Given the description of an element on the screen output the (x, y) to click on. 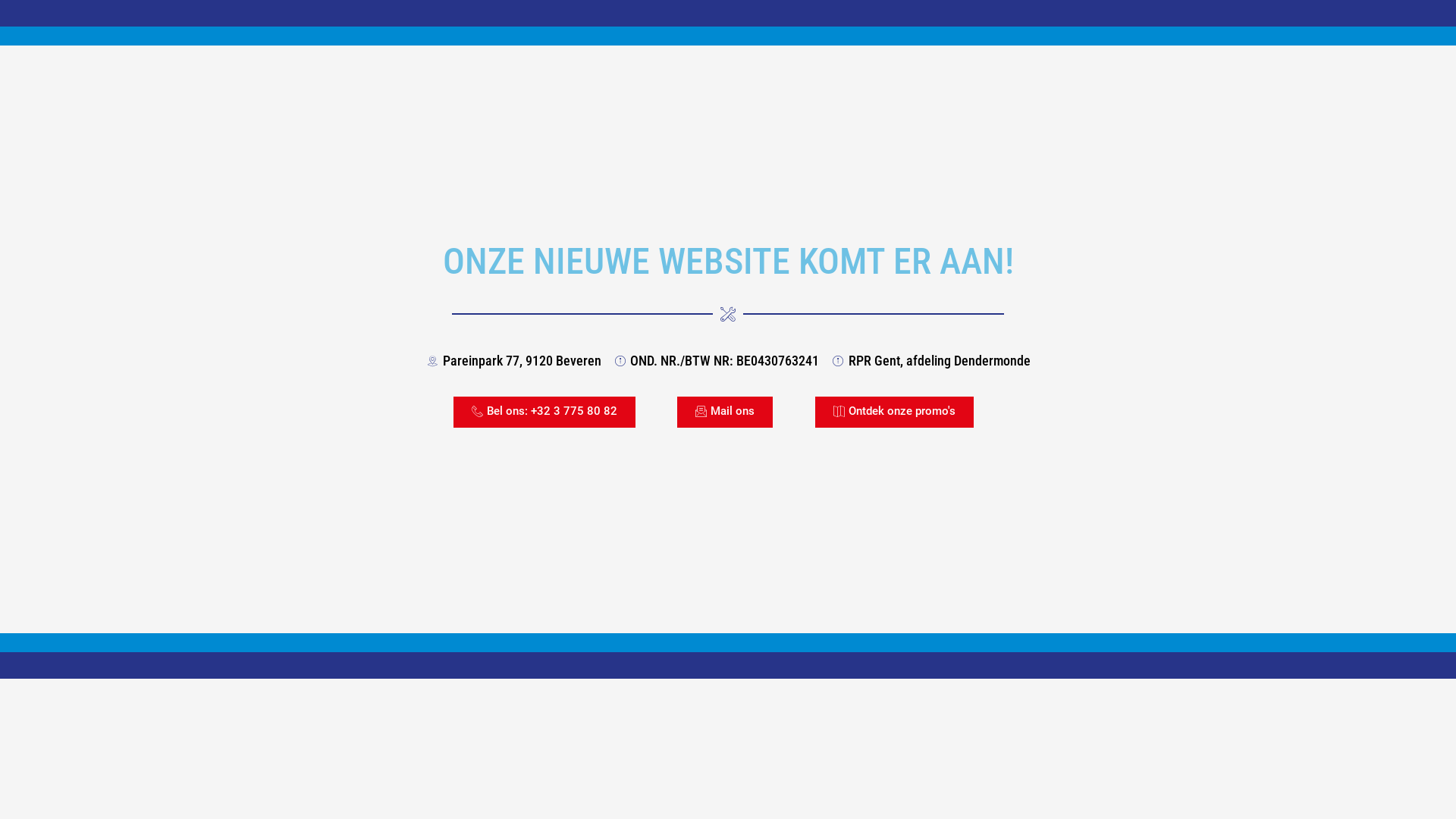
Mail ons Element type: text (724, 411)
Bel ons: +32 3 775 80 82 Element type: text (544, 411)
Pareinpark 77, 9120 Beveren Element type: text (513, 360)
Ontdek onze promo's Element type: text (894, 411)
